Given the description of an element on the screen output the (x, y) to click on. 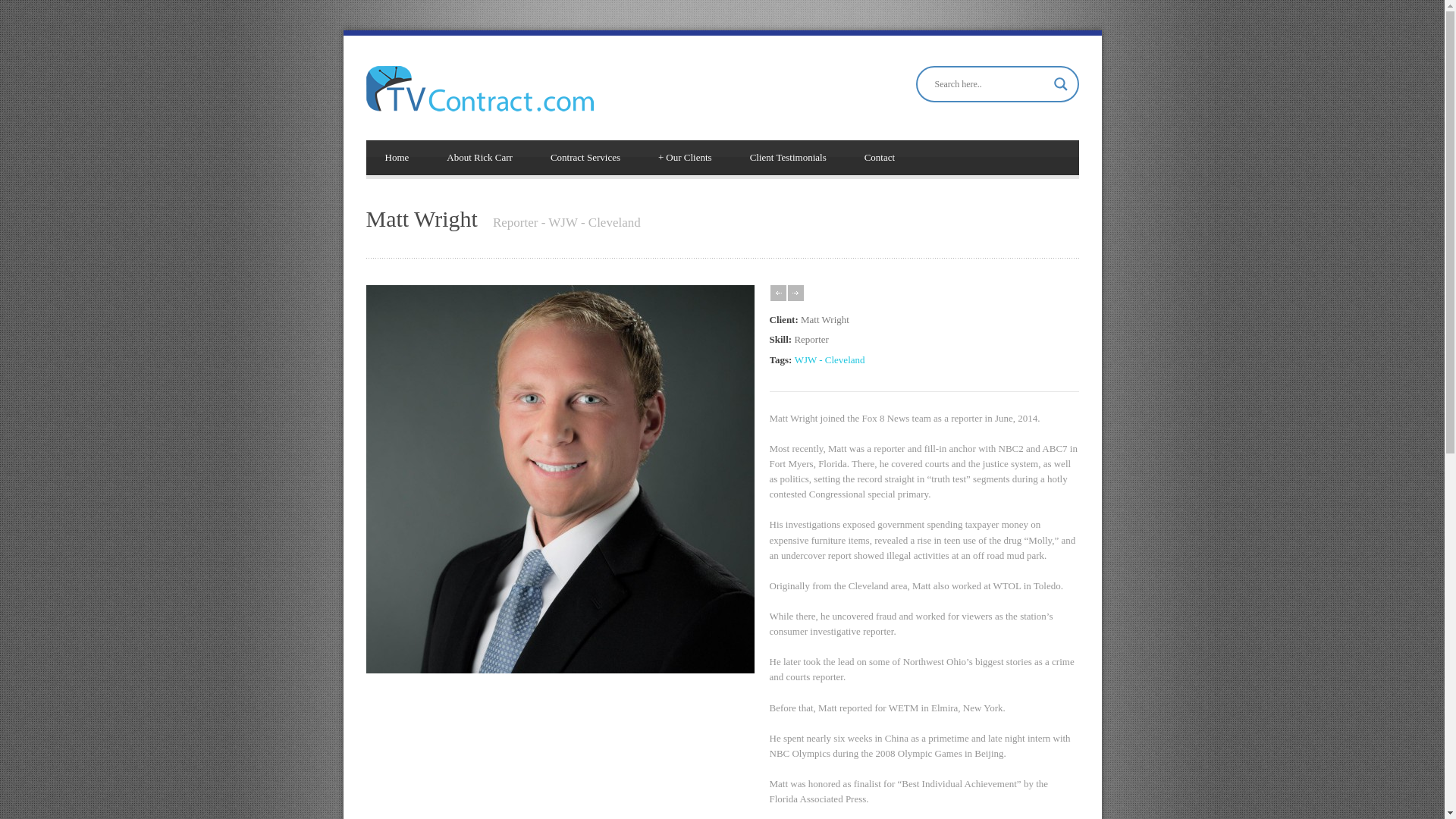
Contact (879, 157)
Contract Services (585, 157)
Home (396, 157)
WJW - Cleveland (829, 359)
Matt Wright (559, 669)
About Rick Carr (479, 157)
Client Testimonials (787, 157)
